Given the description of an element on the screen output the (x, y) to click on. 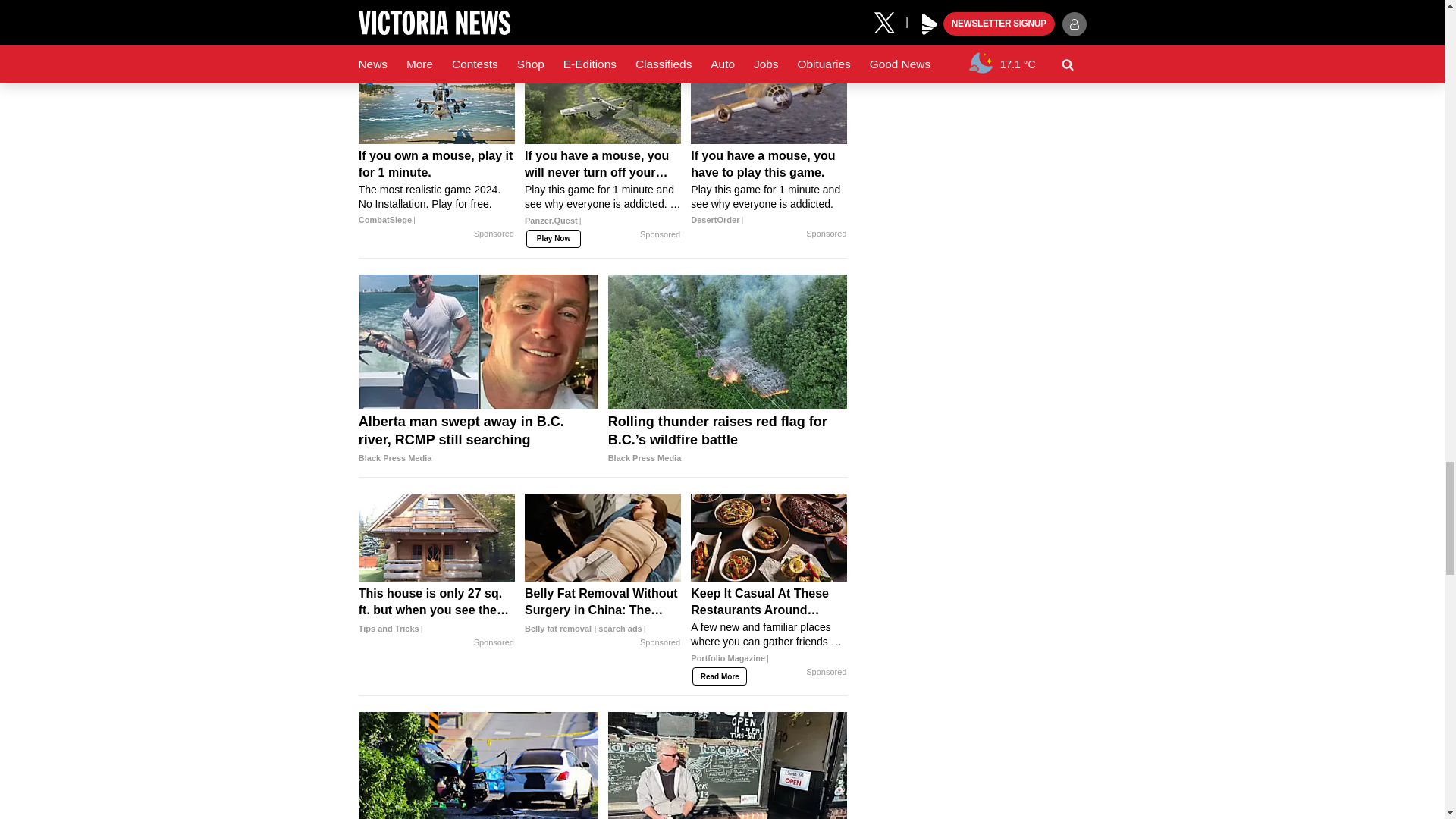
If you own a mouse, play it for 1 minute. (436, 100)
If you own a mouse, play it for 1 minute. (436, 188)
